Given the description of an element on the screen output the (x, y) to click on. 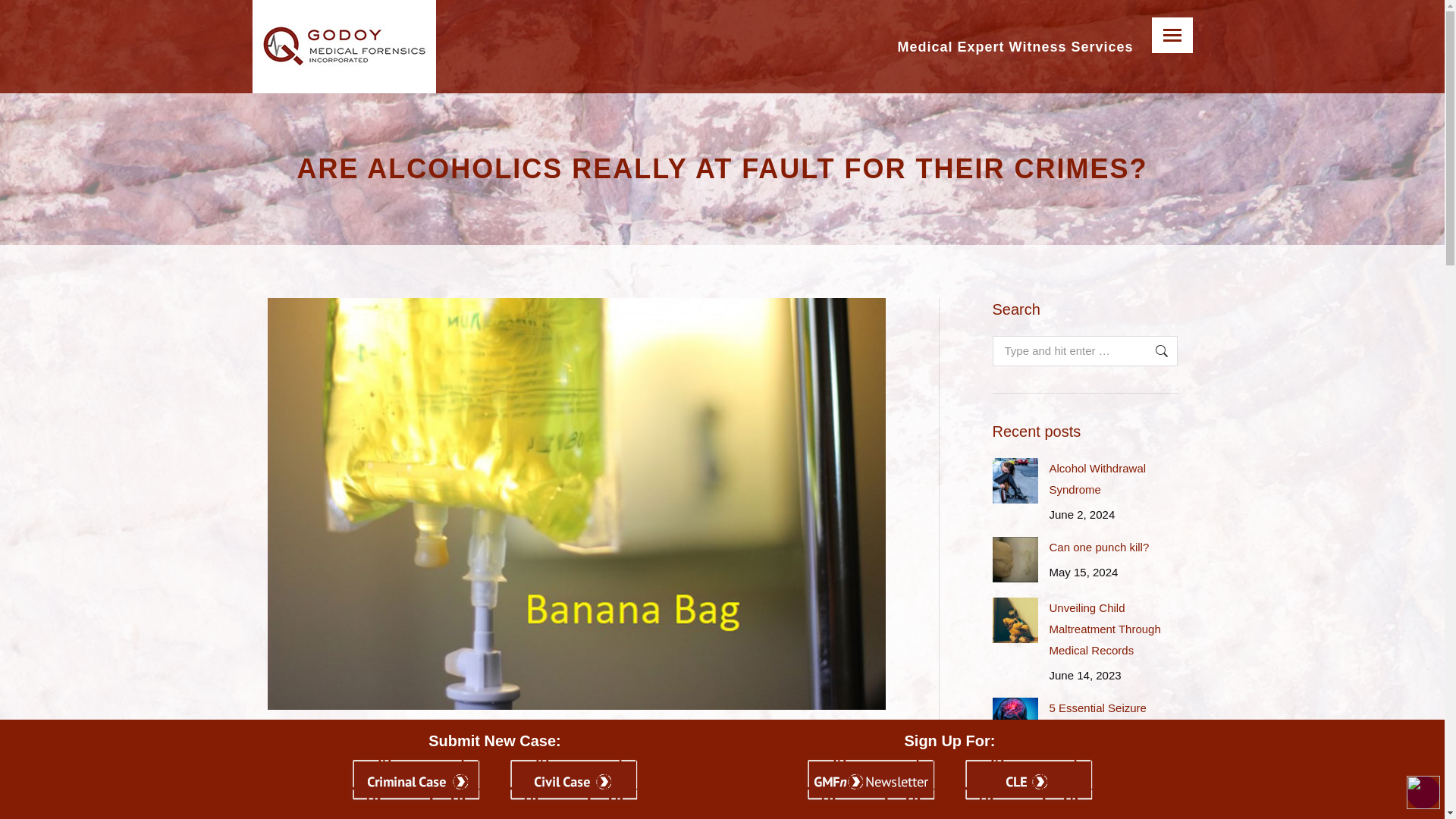
Accessibility Menu (1422, 792)
Go! (1153, 350)
delirium (388, 752)
Go! (1153, 350)
